Given the description of an element on the screen output the (x, y) to click on. 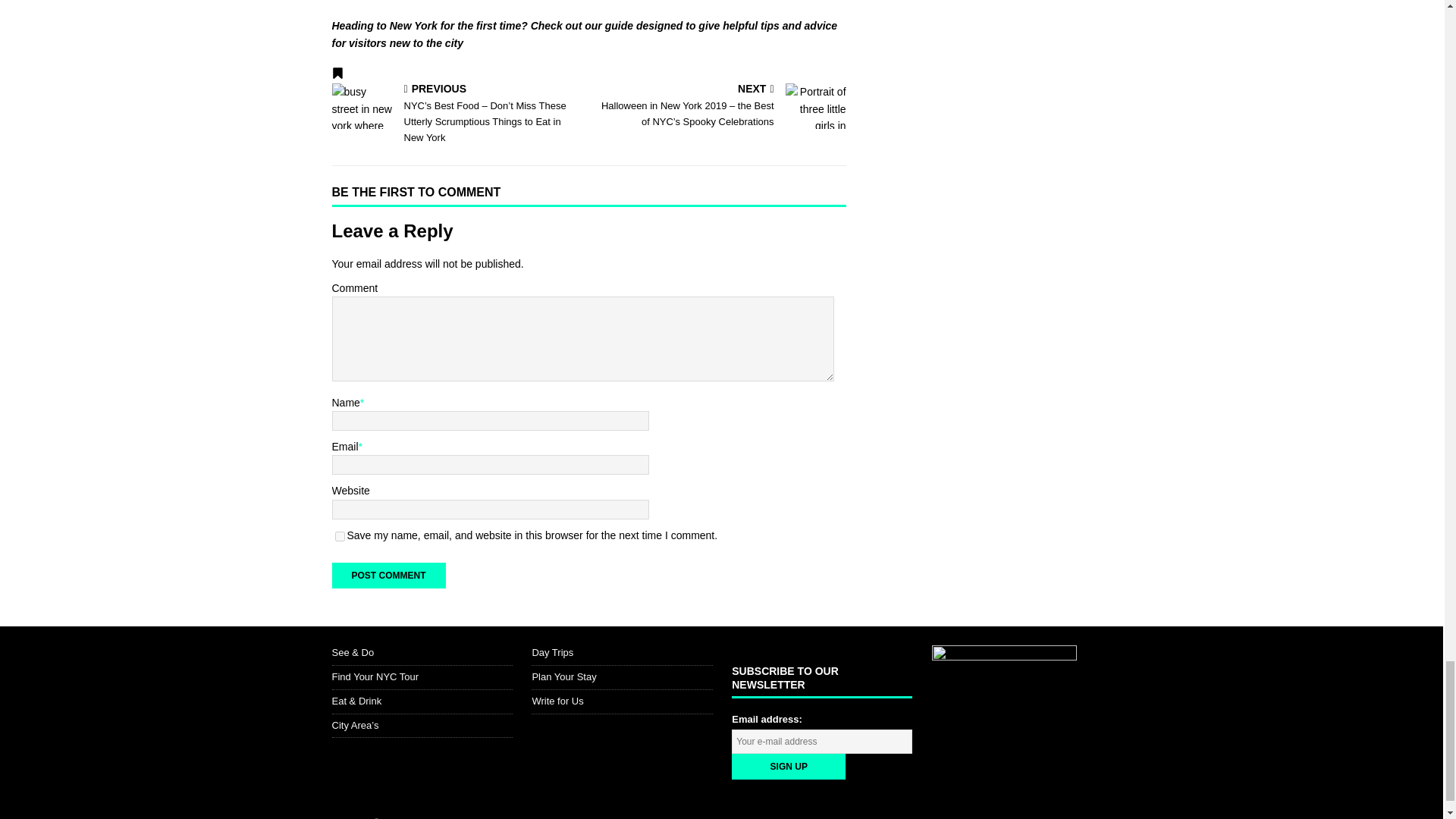
yes (339, 536)
Post Comment (388, 575)
Sign up (788, 766)
